Given the description of an element on the screen output the (x, y) to click on. 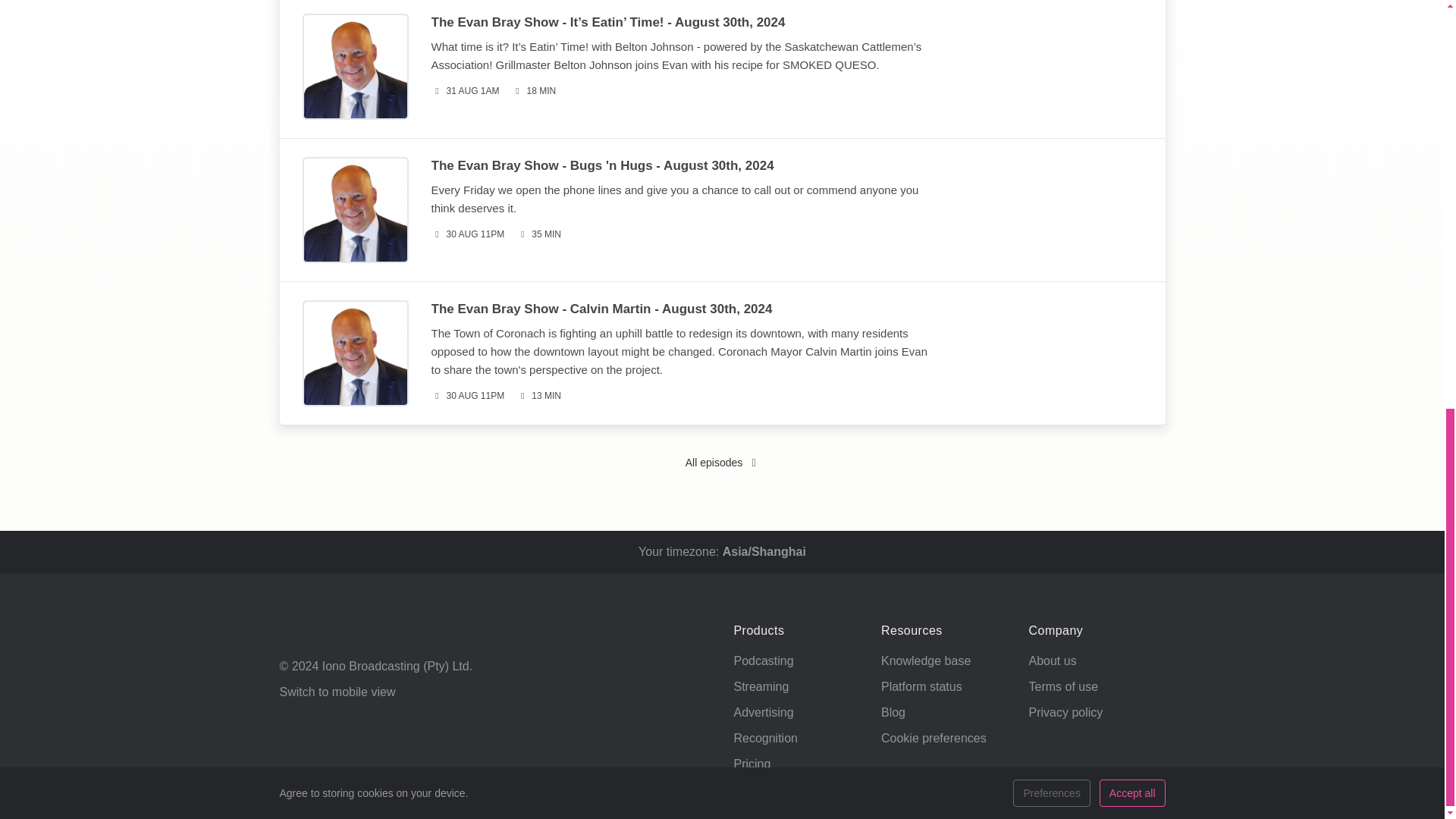
Duration (538, 234)
Published (464, 91)
Duration (534, 91)
Published (466, 234)
Duration (538, 396)
Published (466, 396)
